Given the description of an element on the screen output the (x, y) to click on. 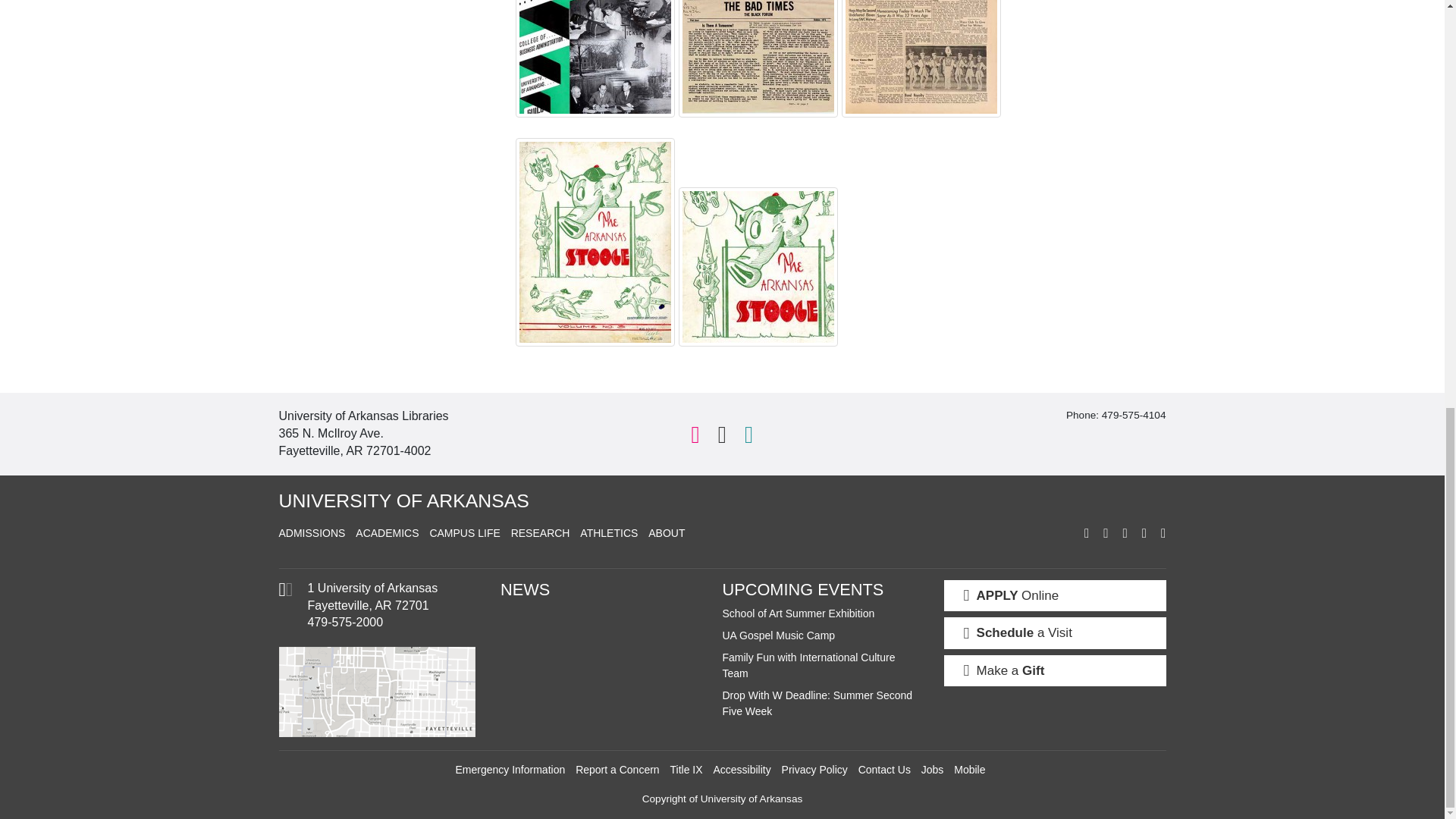
University of Arkansas Athletics (608, 532)
University of Arkansas Home Page (404, 500)
University of Arkansas Academics (387, 532)
View Campus Maps (285, 593)
Campus Life at the University of Arkansas (464, 532)
University of Arkansas Research (540, 532)
About the University of Arkansas (665, 532)
View Campus Maps (379, 692)
University of Arkansas Admissions (312, 532)
